Given the description of an element on the screen output the (x, y) to click on. 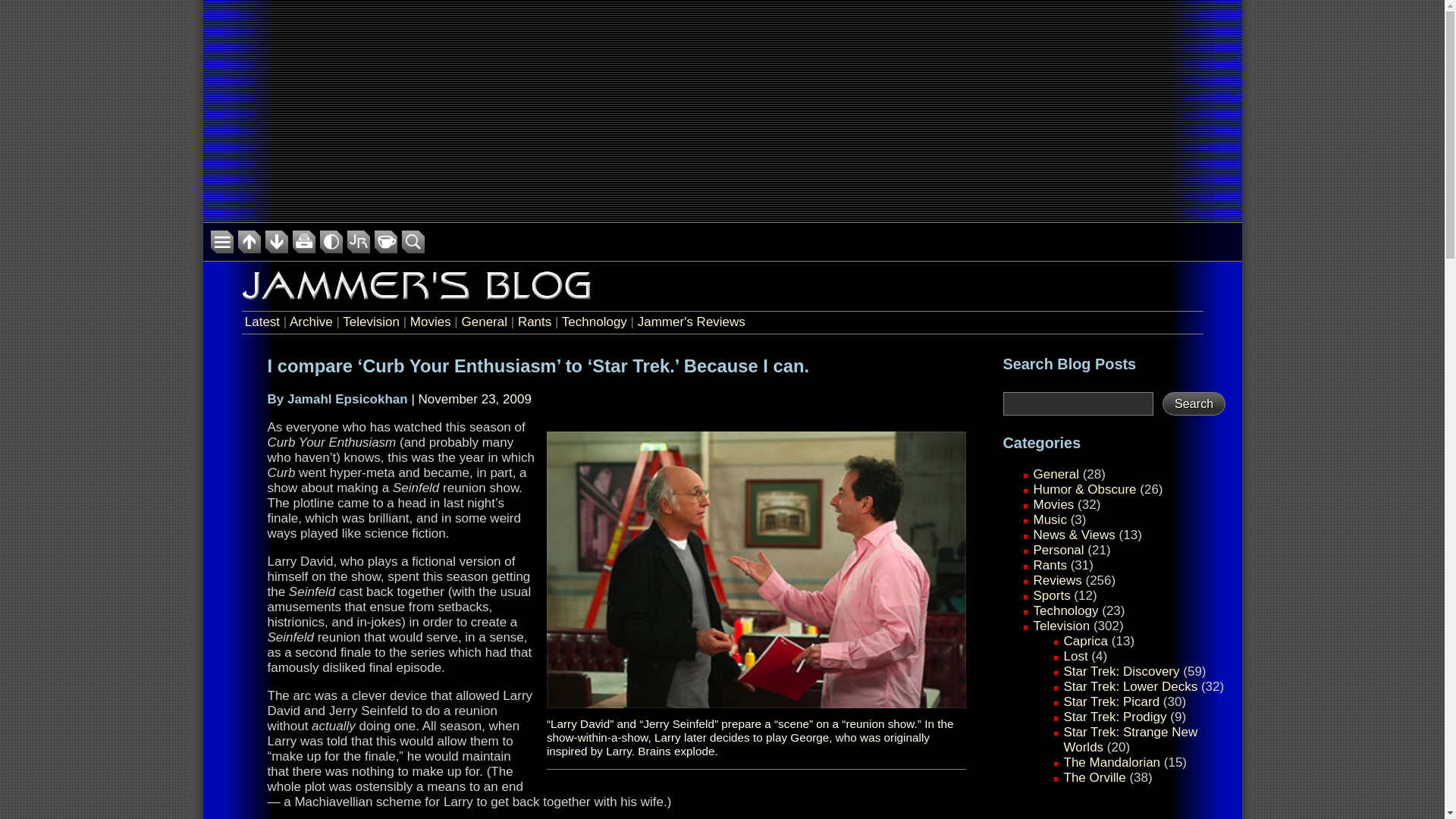
Rants (1048, 564)
Archive (311, 321)
Advertisement (721, 109)
Jammer's Reviews (691, 321)
Television (1060, 626)
Movies (430, 321)
Sports (1051, 595)
Latest (261, 321)
Search (1193, 403)
General (483, 321)
Rants (534, 321)
Television (370, 321)
Reviews (1056, 580)
Movies (1053, 504)
Personal (1057, 549)
